Given the description of an element on the screen output the (x, y) to click on. 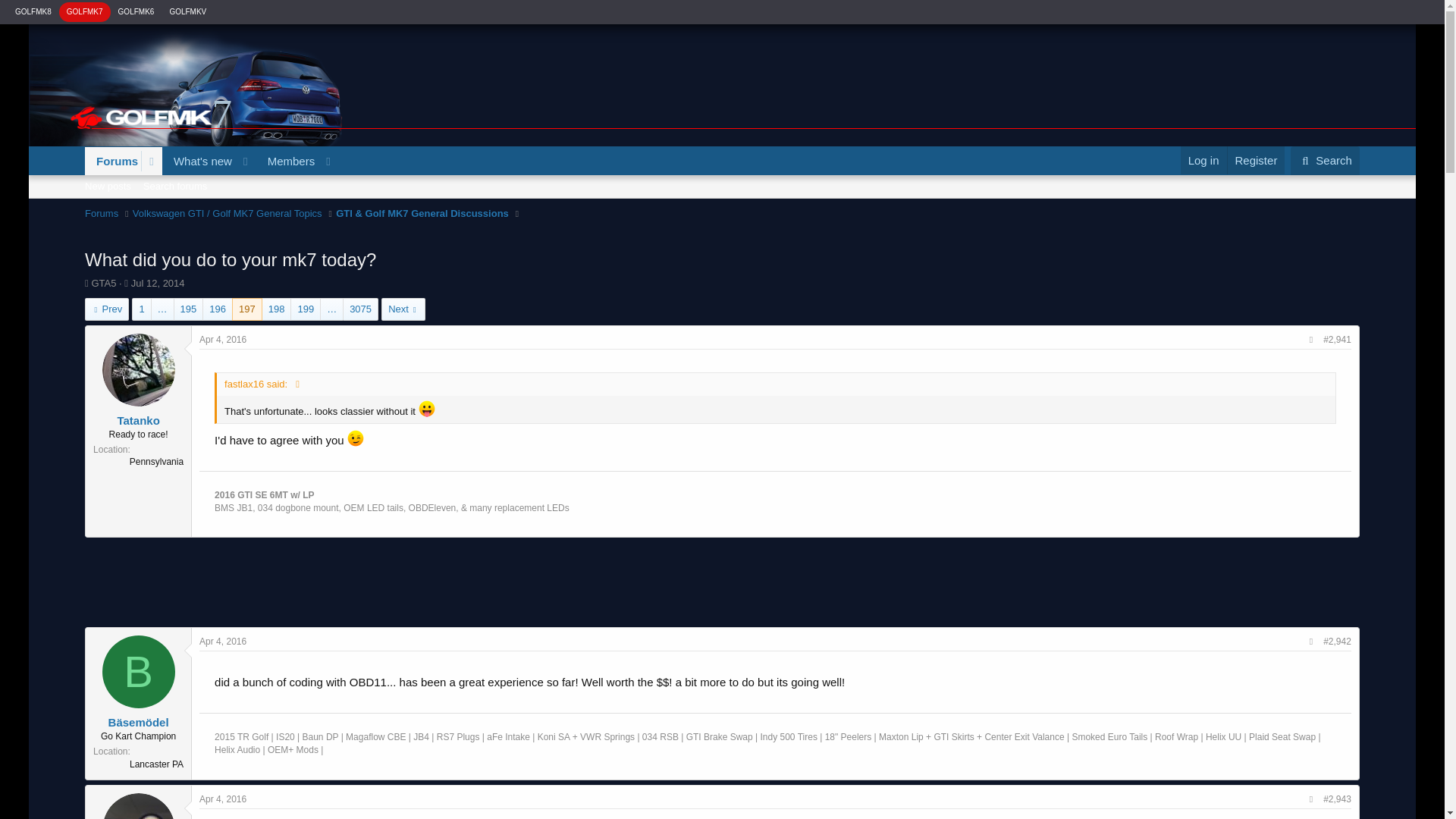
Log in (1203, 159)
Forums (100, 213)
Register (1256, 159)
Prev (106, 309)
GOLFMK7 (84, 11)
Forums (112, 161)
GTA5 (103, 283)
Jul 12, 2014 at 1:16 PM (157, 283)
Search forums (211, 178)
